Given the description of an element on the screen output the (x, y) to click on. 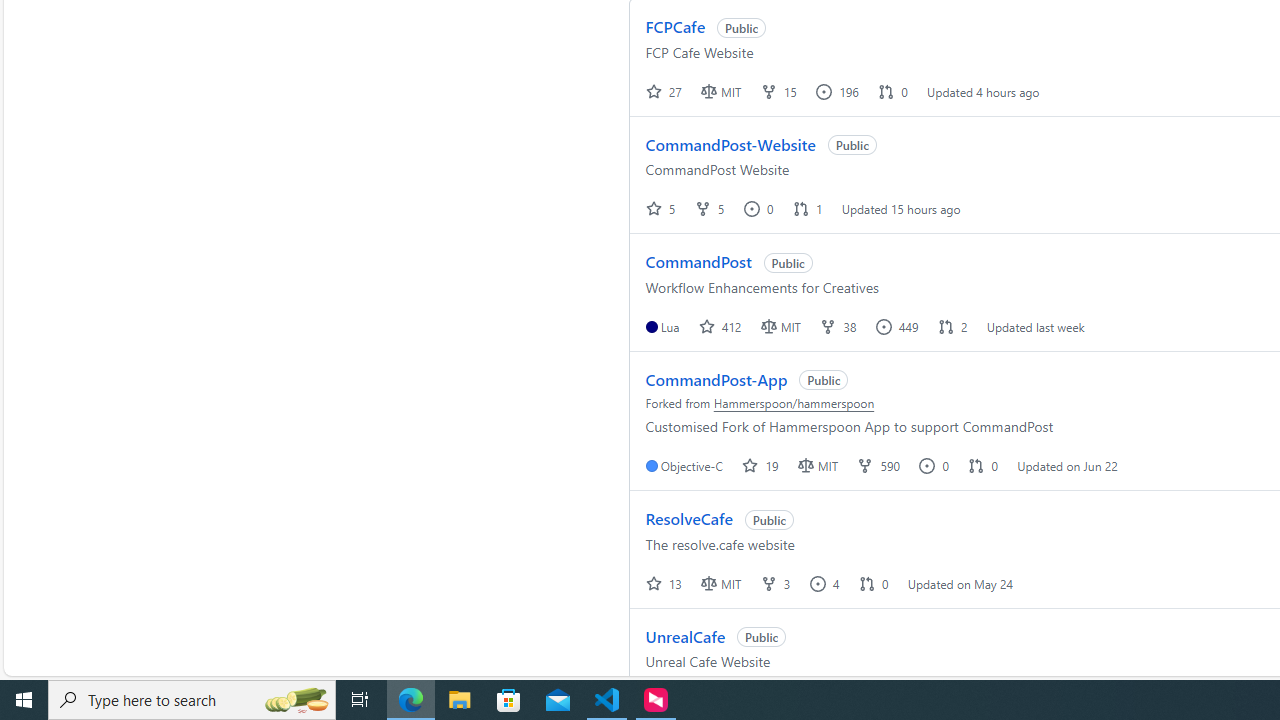
ResolveCafe (689, 518)
 1  (808, 208)
fork 38  (840, 326)
fork 15  (780, 91)
fork 3  (776, 583)
 0  (874, 583)
Hammerspoon/hammerspoon (793, 403)
CommandPost-App (716, 379)
 2  (953, 326)
